Given the description of an element on the screen output the (x, y) to click on. 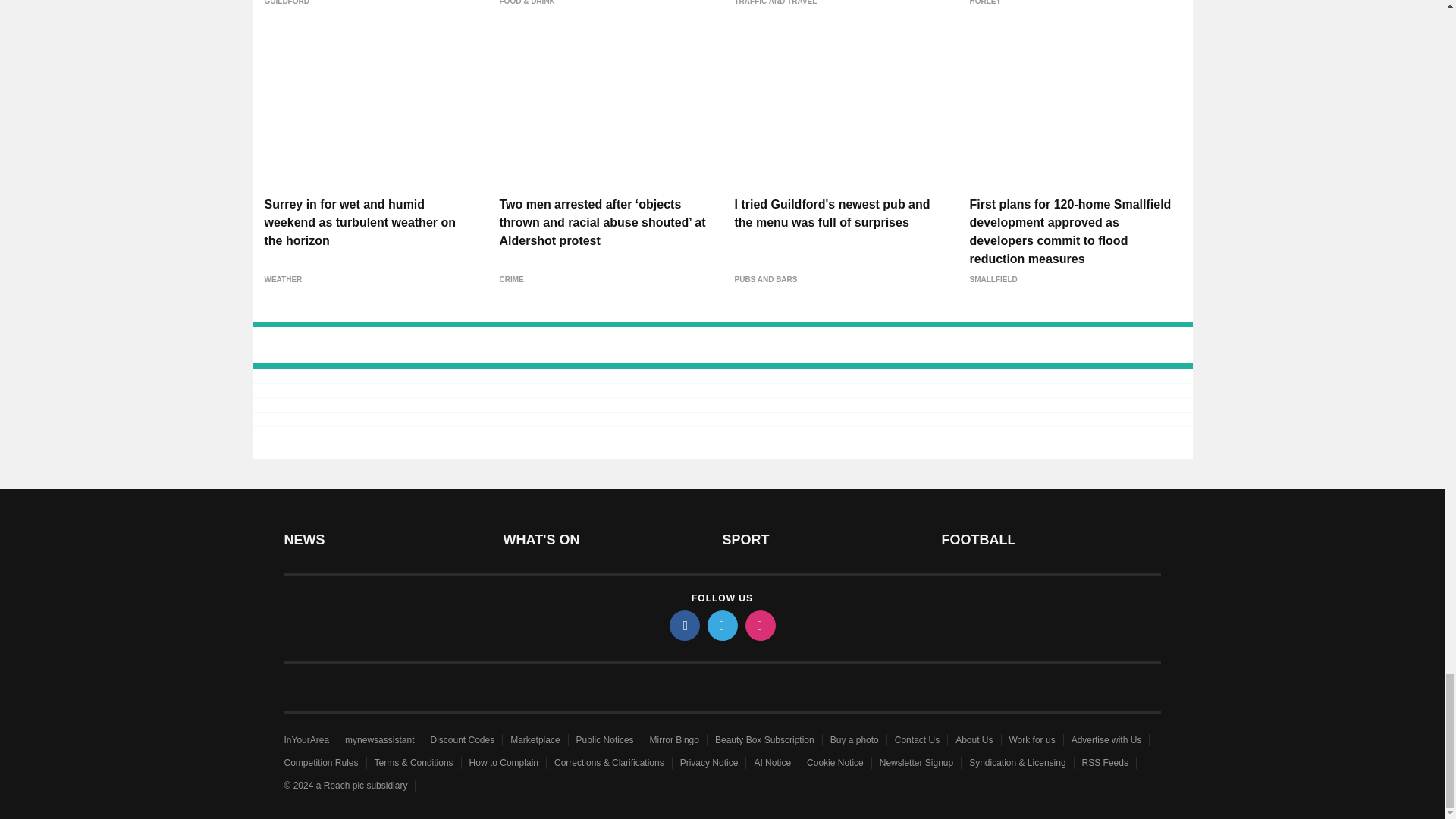
instagram (759, 625)
twitter (721, 625)
facebook (683, 625)
